Given the description of an element on the screen output the (x, y) to click on. 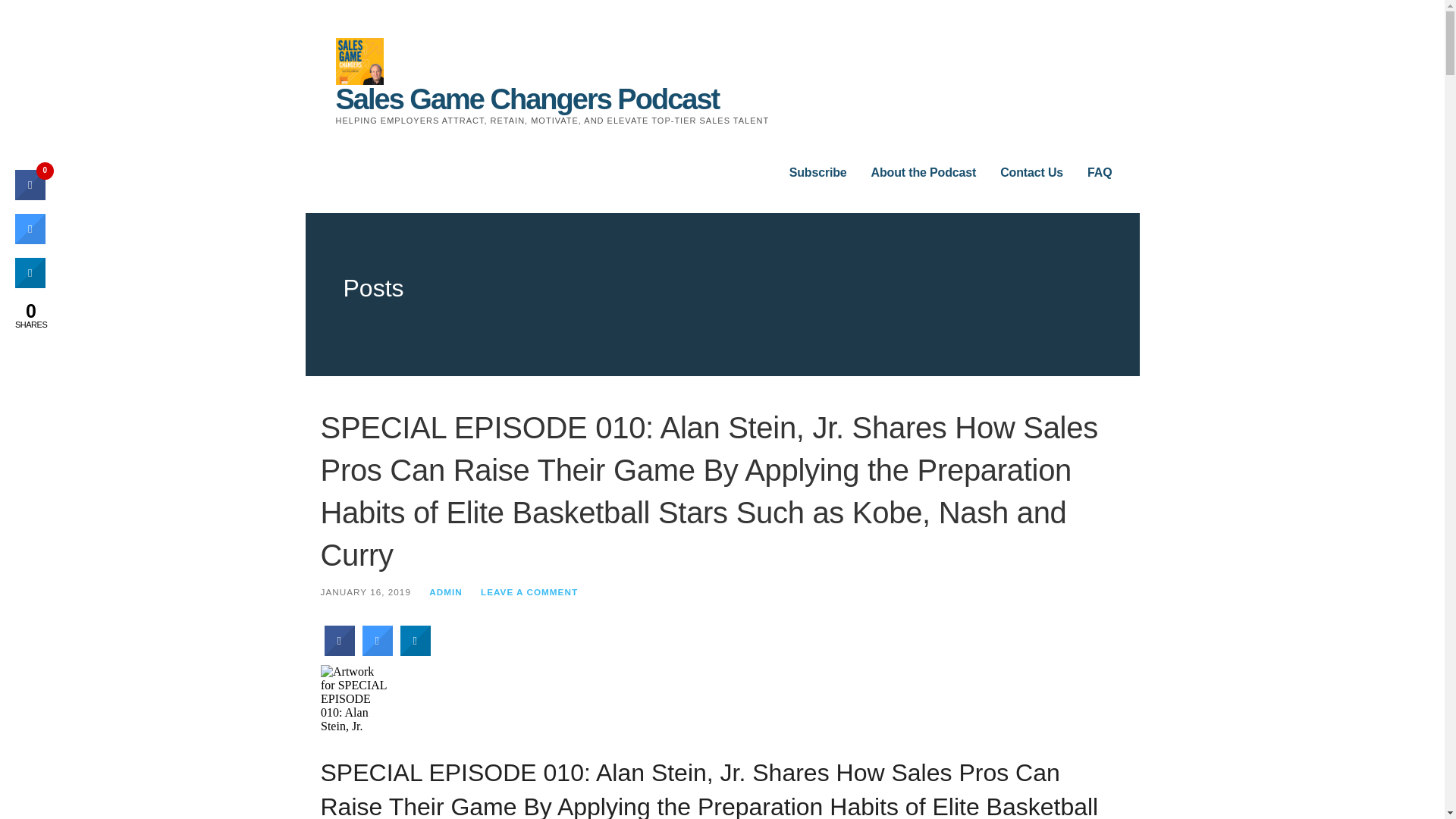
Share on Facebook (339, 651)
LEAVE A COMMENT (529, 592)
About the Podcast (923, 173)
Contact Us (1031, 173)
Share to LinkedIn (415, 651)
ADMIN (446, 592)
Share on Facebook (29, 195)
Share on Twitter (29, 239)
Share on Twitter (377, 651)
Posts by admin (446, 592)
Share on LinkedIn (29, 283)
Subscribe (818, 173)
Sales Game Changers Podcast (526, 99)
